Given the description of an element on the screen output the (x, y) to click on. 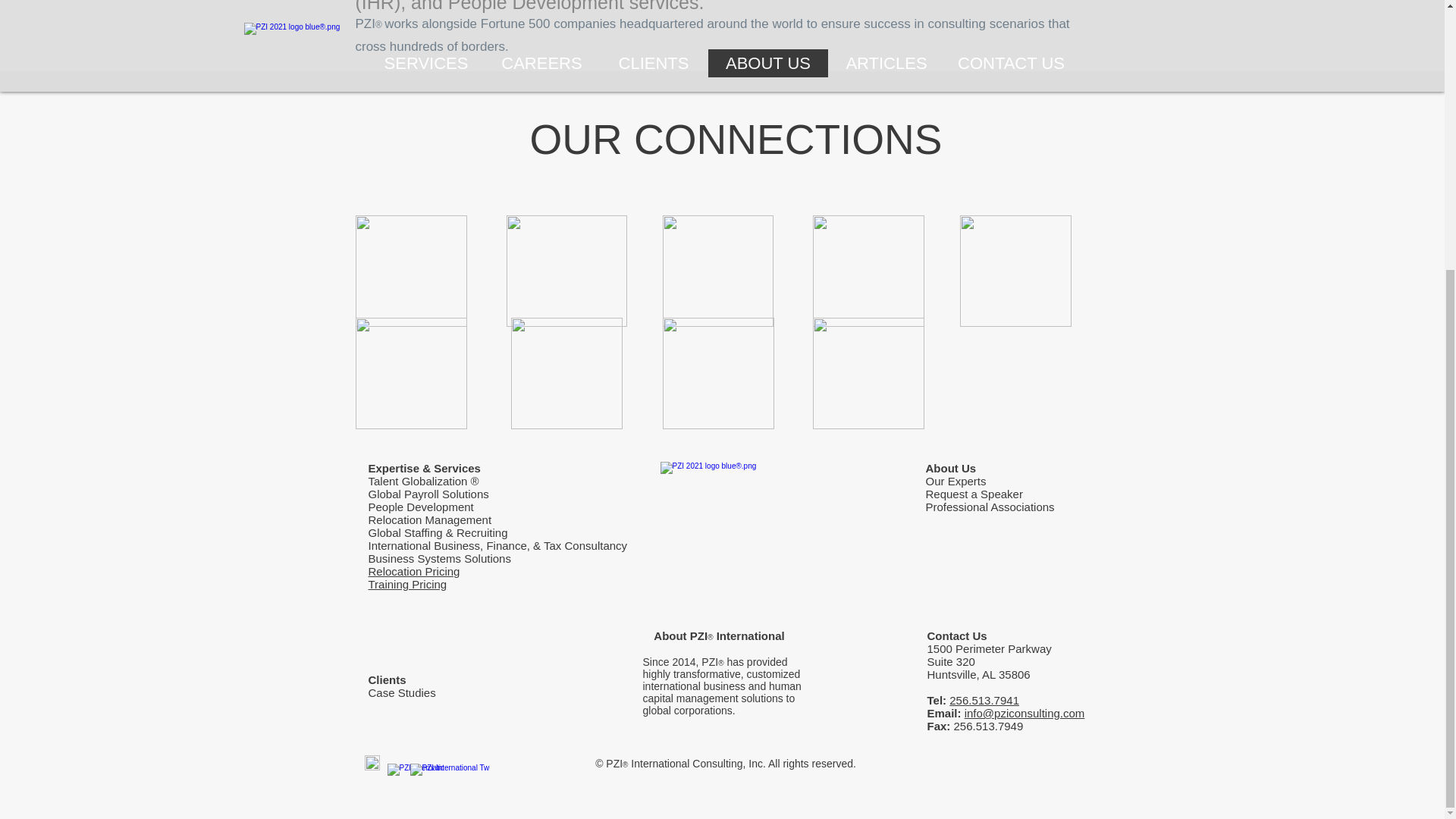
People Development  (422, 506)
Celia Alliance (566, 270)
ICF (567, 373)
Huntsville Madison County Chamber (717, 270)
Training Pricing (407, 584)
NAITA (868, 270)
ROI Institute  (410, 373)
Relocation Pricing (414, 571)
Business Systems Solutions (439, 558)
Our Experts  (956, 481)
